Given the description of an element on the screen output the (x, y) to click on. 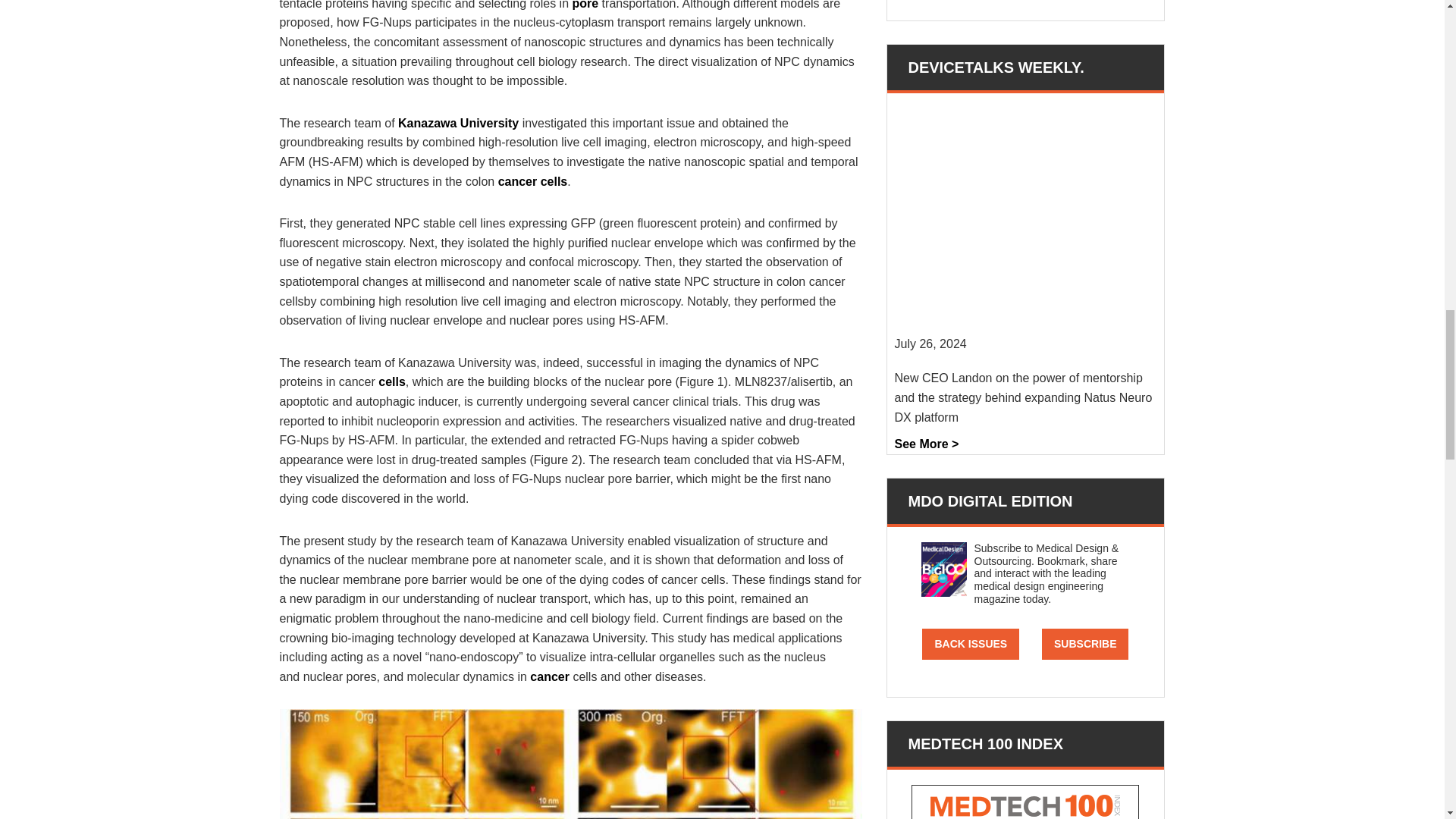
3rd party ad content (1024, 2)
